Given the description of an element on the screen output the (x, y) to click on. 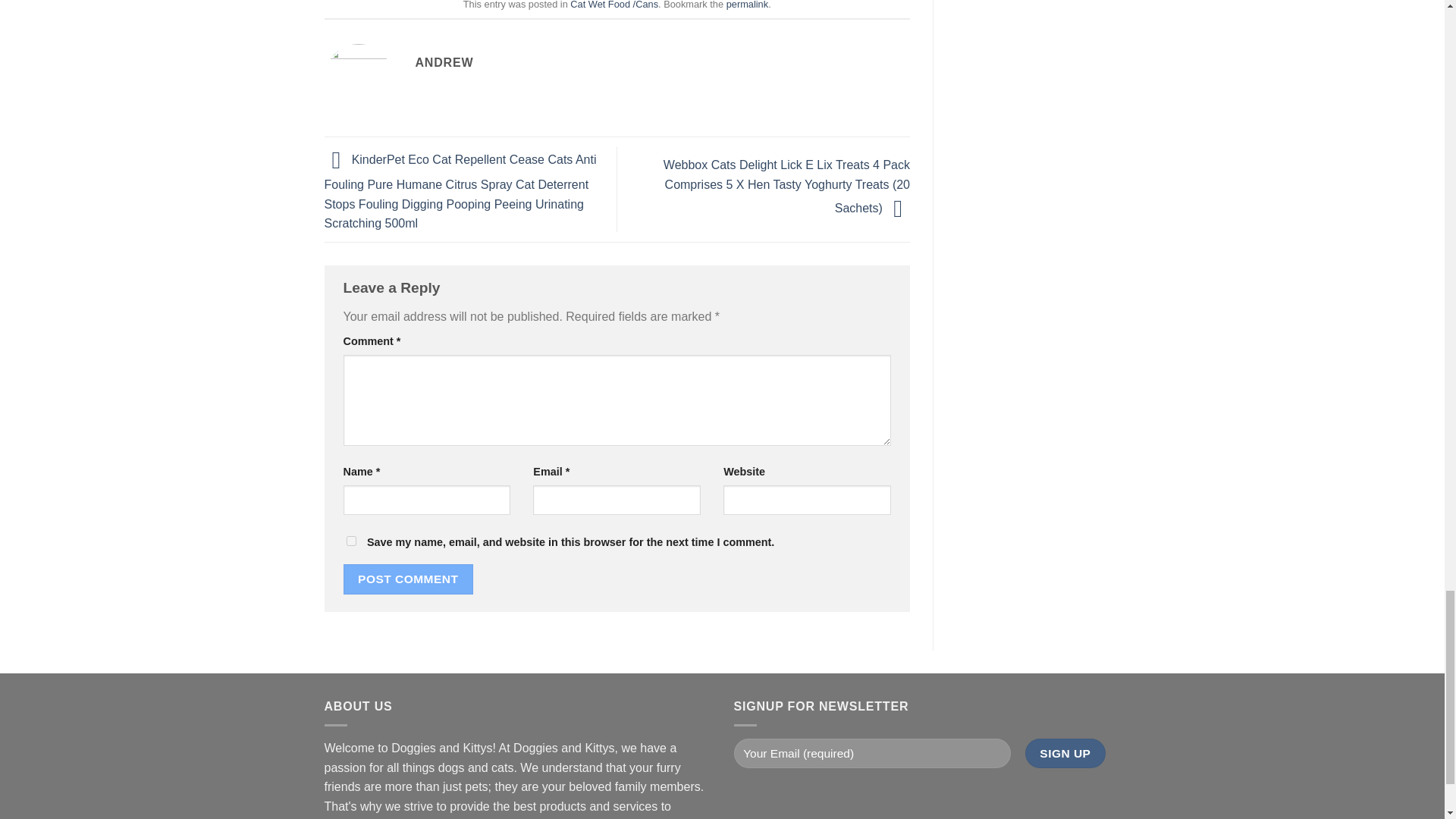
Post Comment (407, 578)
yes (350, 541)
Sign Up (1065, 753)
